Given the description of an element on the screen output the (x, y) to click on. 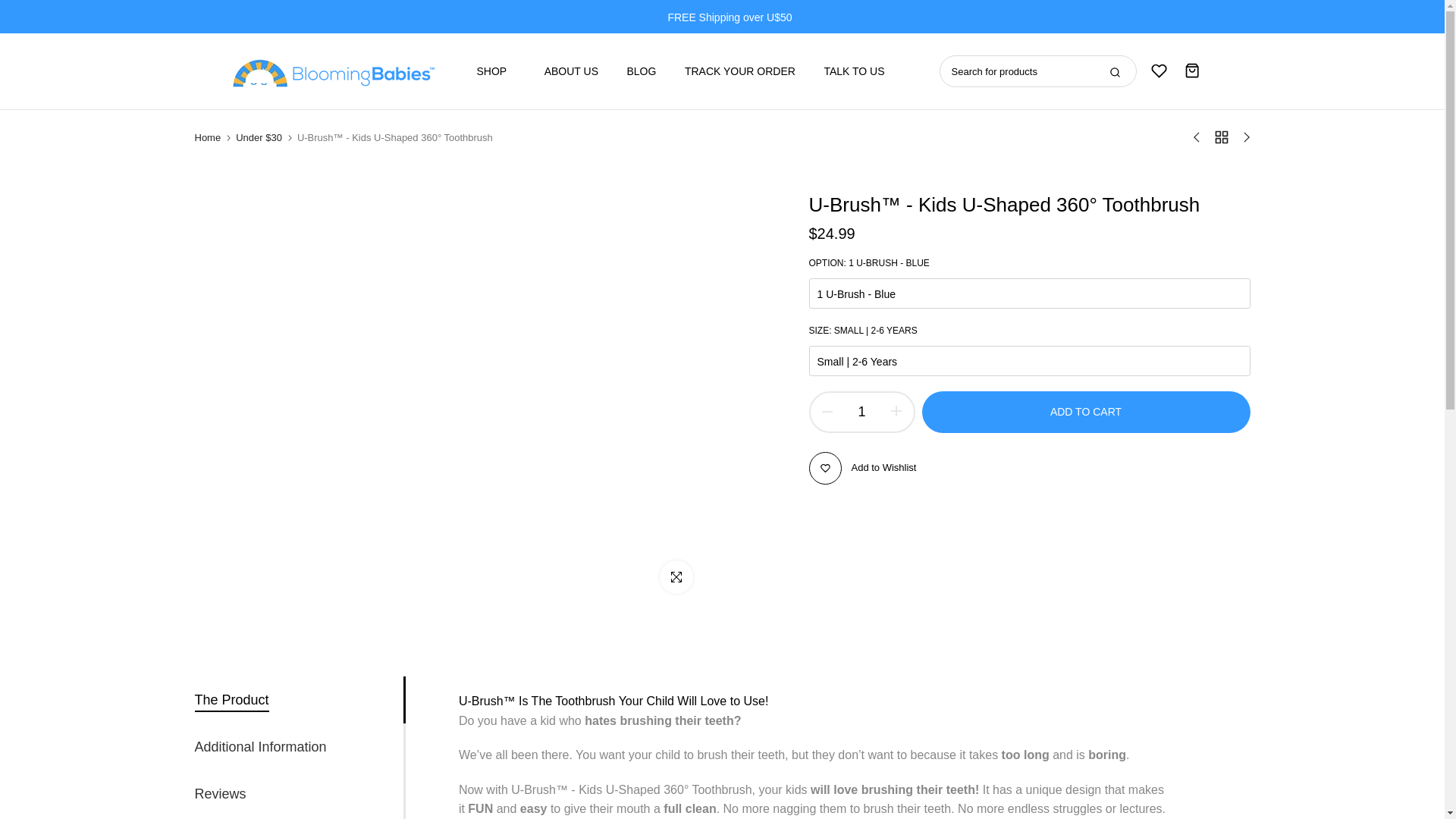
TALK TO US (847, 71)
Add to Wishlist (861, 468)
1 U-Brush - Blue (1028, 293)
Additional Information (259, 746)
Reviews (219, 793)
Skip to content (10, 7)
ABOUT US (570, 71)
SHOP (502, 71)
BLOG (640, 71)
TRACK YOUR ORDER (739, 71)
